Given the description of an element on the screen output the (x, y) to click on. 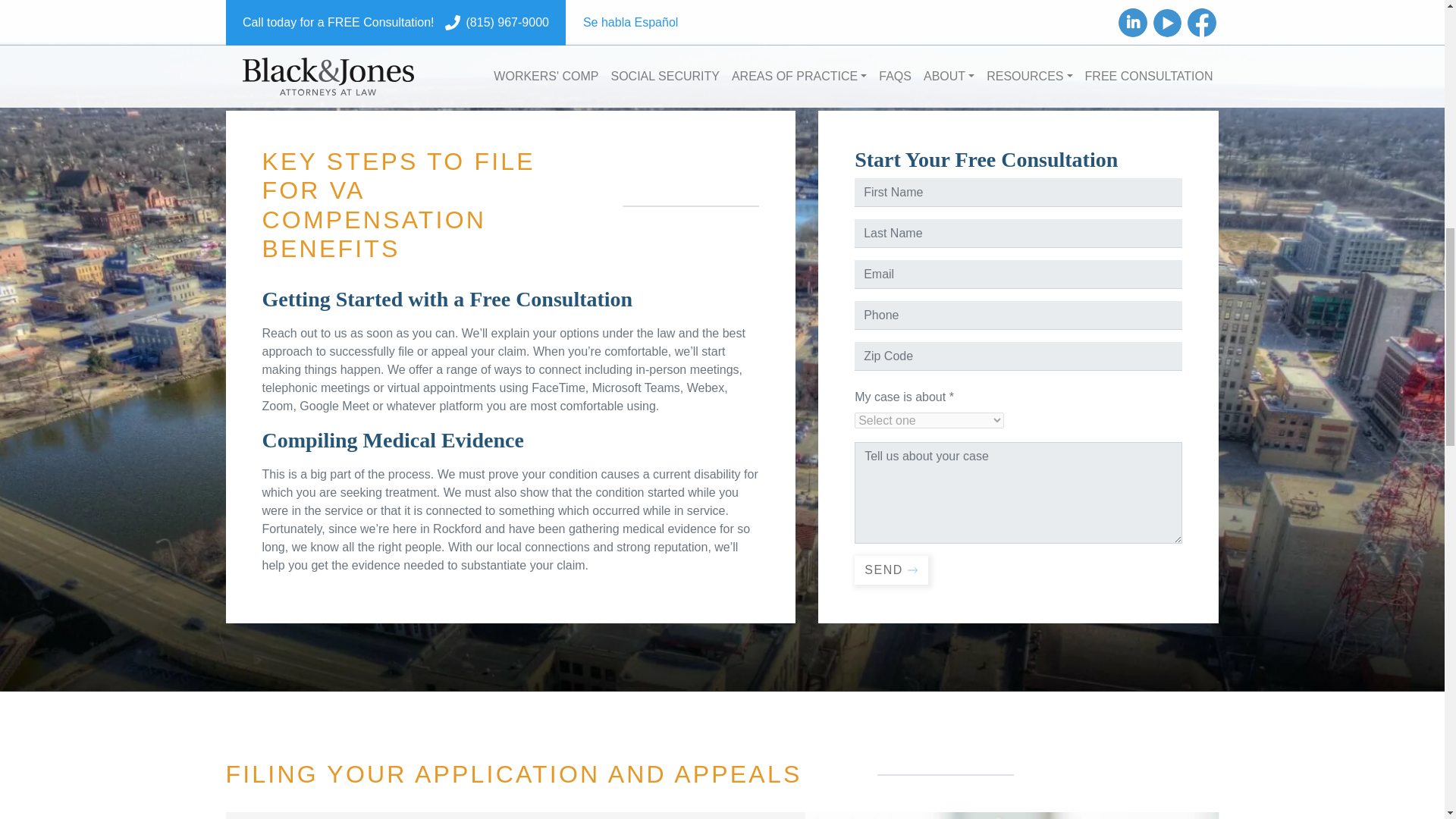
SEND (891, 570)
